Given the description of an element on the screen output the (x, y) to click on. 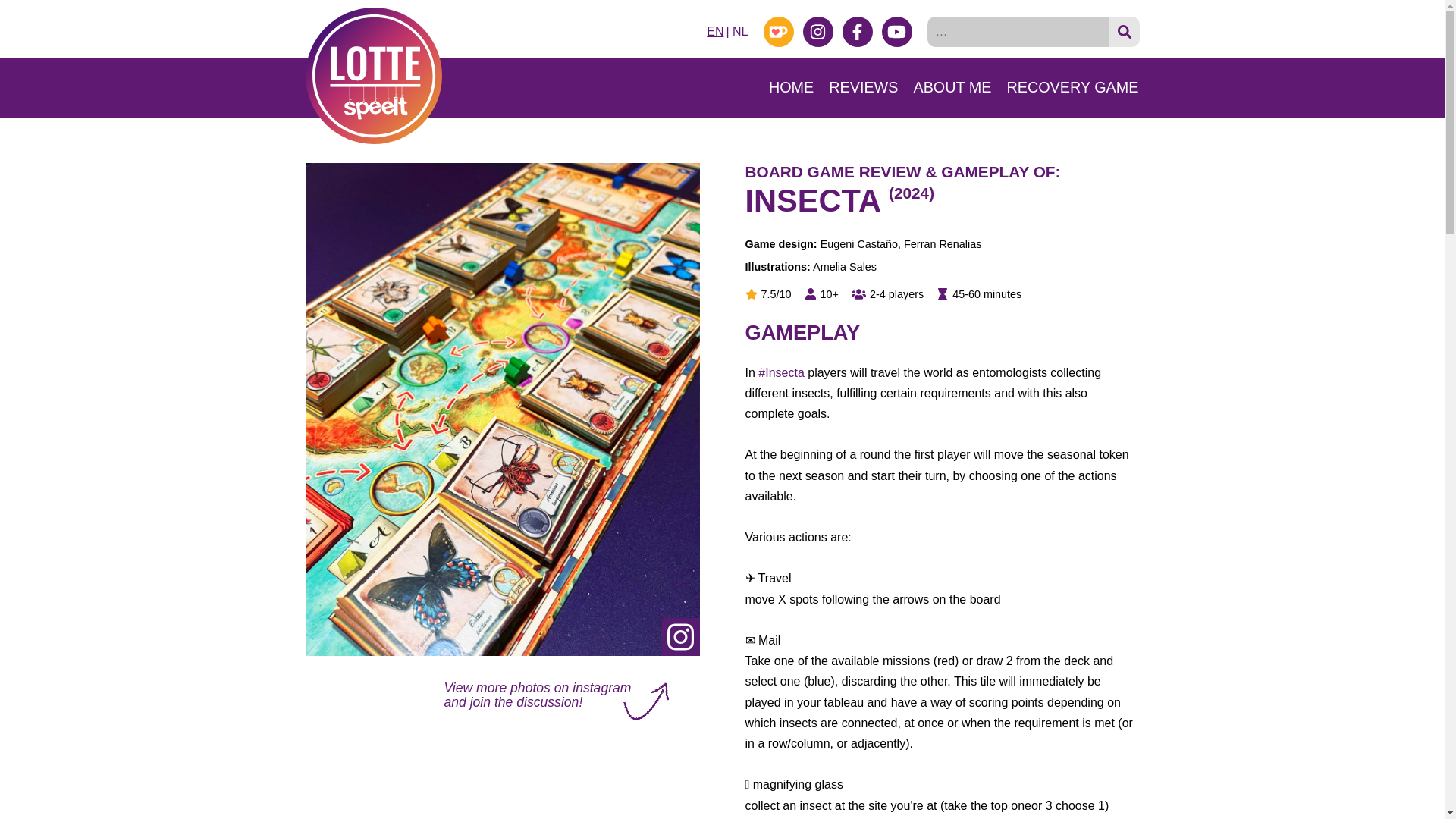
Follow me on Instagram (817, 31)
Follow me on Youtube (895, 31)
Skip to main content (5, 5)
Search (1123, 31)
Follow me on Facebook (856, 31)
Lotte Speelt (372, 75)
ABOUT ME (951, 87)
Support me on on Ko-fi (777, 31)
REVIEWS (863, 87)
RECOVERY GAME (1072, 87)
HOME (790, 87)
Follow me on Youtube (895, 31)
Follow me on Facebook (856, 31)
Support me on on Ko-fi (777, 31)
Follow me on Instagram (817, 31)
